Given the description of an element on the screen output the (x, y) to click on. 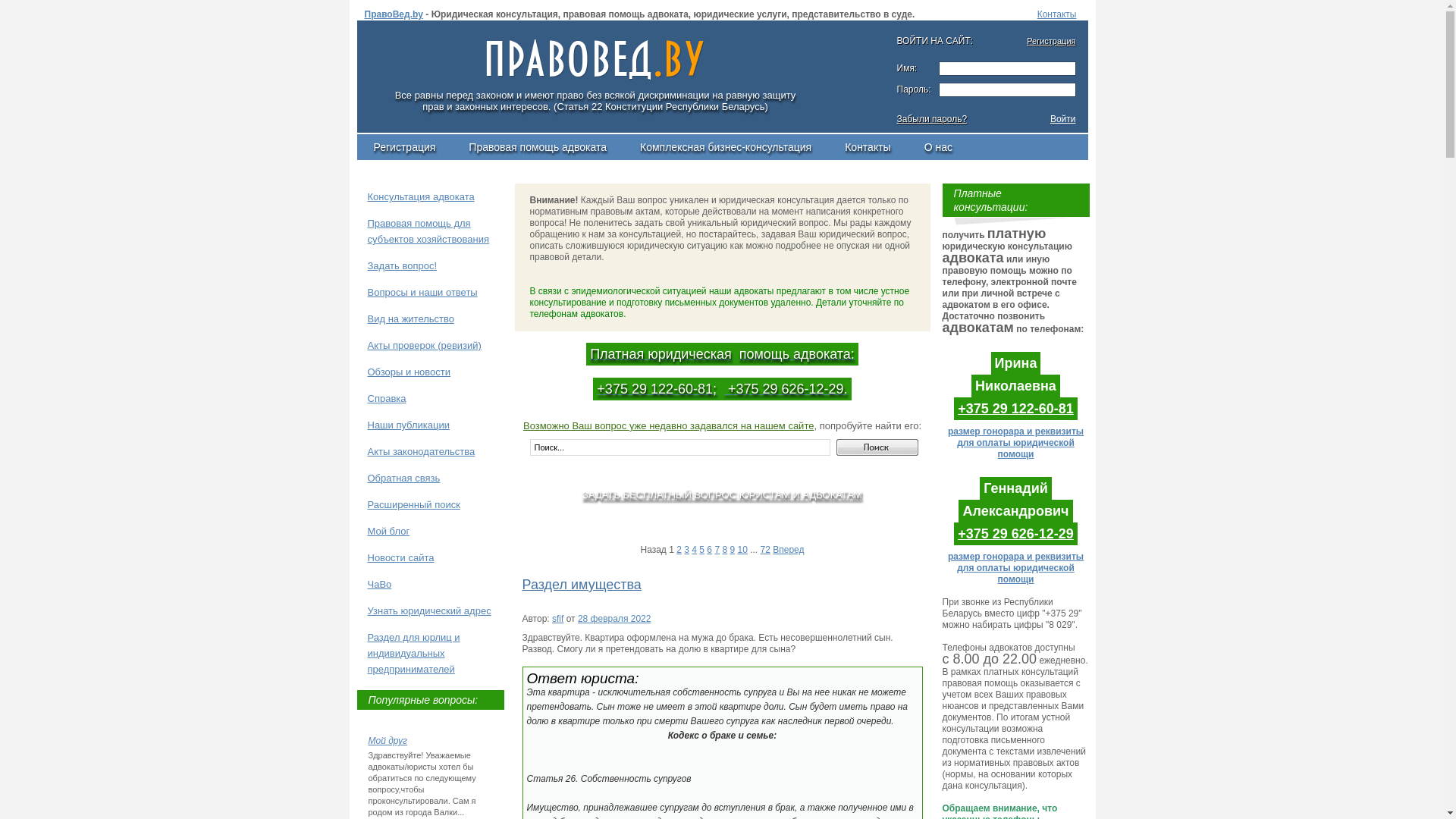
+375 29 626-12-29 Element type: text (1015, 533)
10 Element type: text (741, 549)
5 Element type: text (701, 549)
8 Element type: text (724, 549)
2 Element type: text (678, 549)
4 Element type: text (693, 549)
sfif Element type: text (557, 618)
72 Element type: text (765, 549)
6 Element type: text (709, 549)
3 Element type: text (686, 549)
+375 29 122-60-81 Element type: text (1015, 408)
9 Element type: text (731, 549)
7 Element type: text (716, 549)
